Given the description of an element on the screen output the (x, y) to click on. 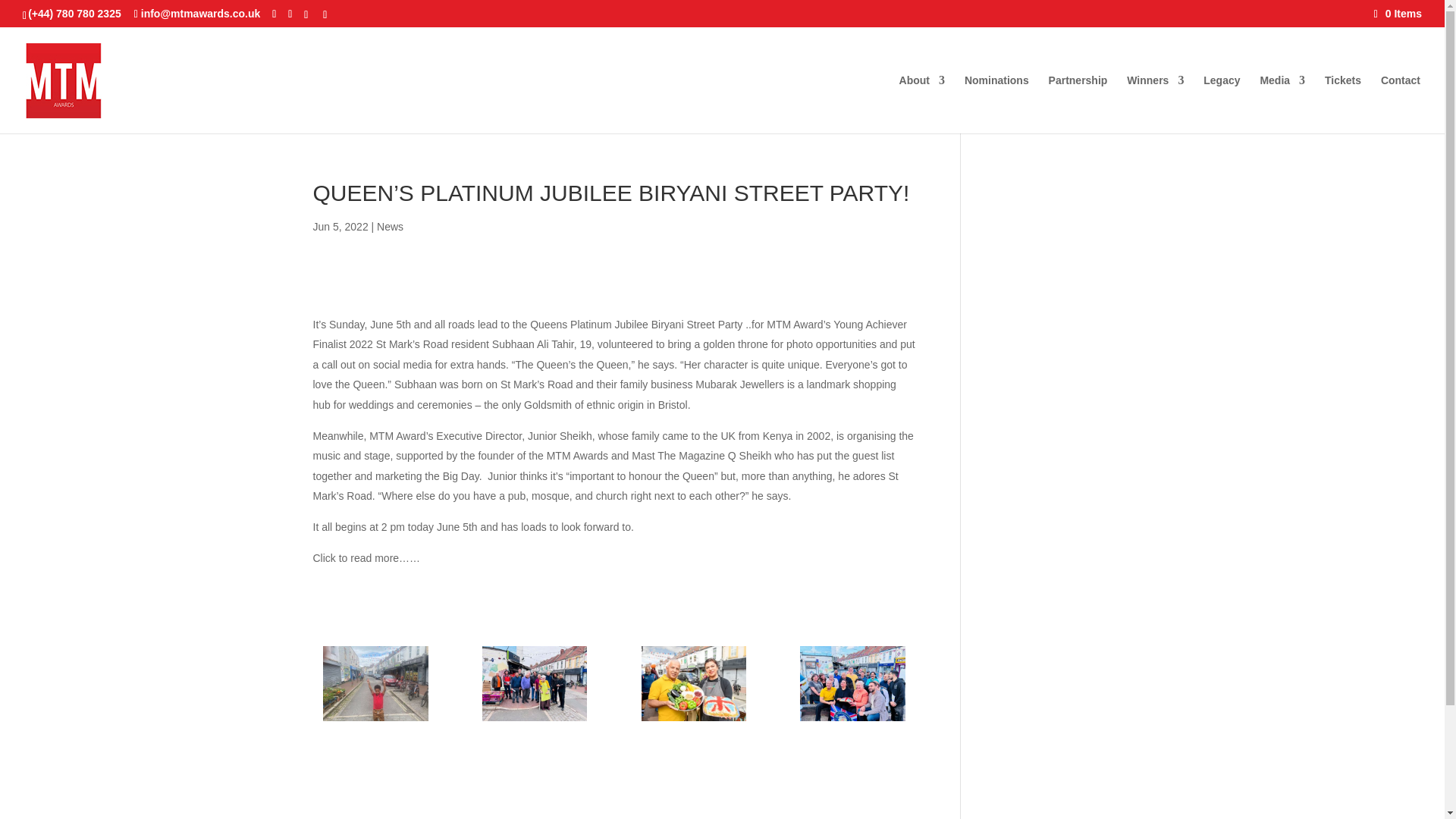
Partnership (1078, 104)
0 Items (1398, 13)
Winners (1154, 104)
Nominations (996, 104)
